Given the description of an element on the screen output the (x, y) to click on. 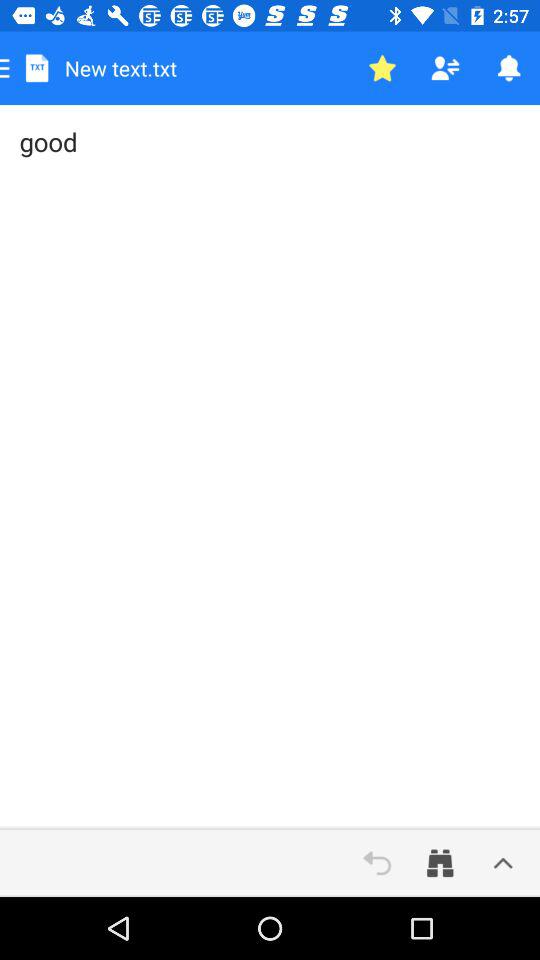
refresh (377, 863)
